Given the description of an element on the screen output the (x, y) to click on. 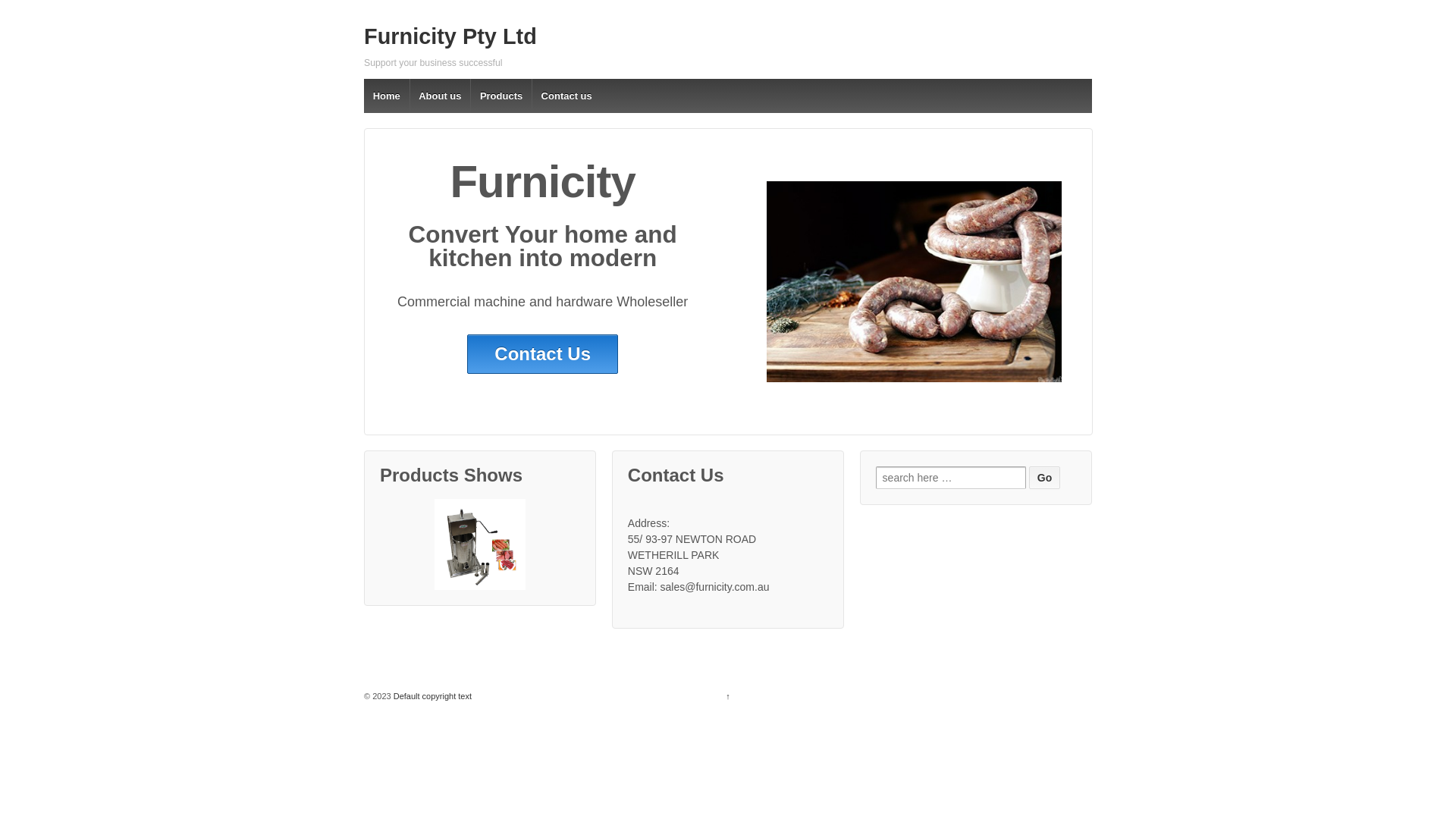
Go Element type: text (1044, 477)
Contact Us Element type: text (542, 353)
Home Element type: text (386, 95)
Furnicity Pty Ltd Element type: text (450, 36)
Default copyright text Element type: text (431, 695)
About us Element type: text (439, 95)
Products Element type: text (500, 95)
Contact us Element type: text (566, 95)
